Given the description of an element on the screen output the (x, y) to click on. 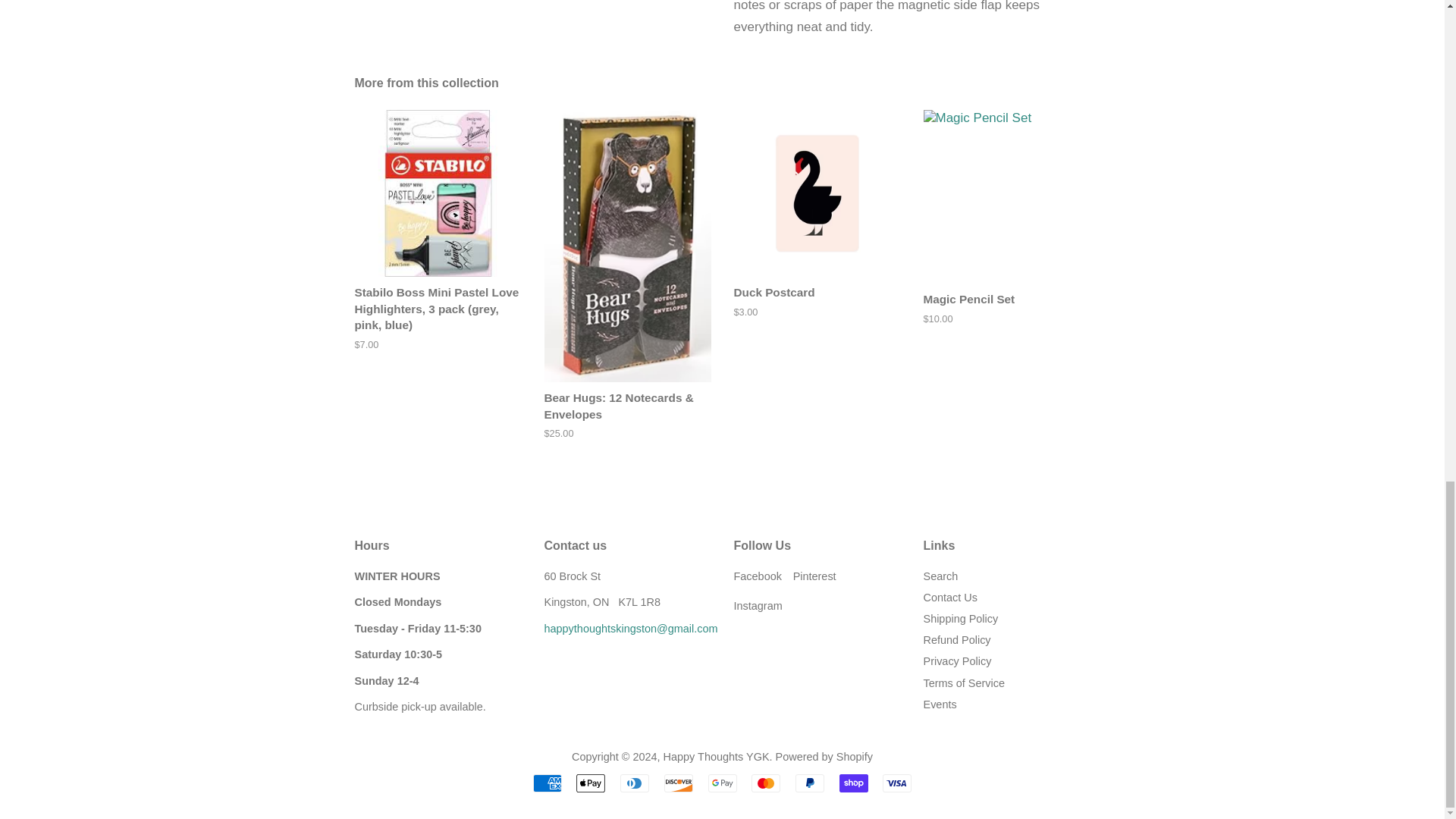
Apple Pay (590, 782)
Google Pay (721, 782)
Mastercard (765, 782)
PayPal (809, 782)
Contact Us (630, 628)
Happy Thoughts YGK on Instagram (758, 605)
Happy Thoughts YGK on Facebook (757, 576)
American Express (547, 782)
Diners Club (634, 782)
Visa (896, 782)
Shop Pay (853, 782)
Happy Thoughts YGK on Pinterest (814, 576)
Discover (678, 782)
